Given the description of an element on the screen output the (x, y) to click on. 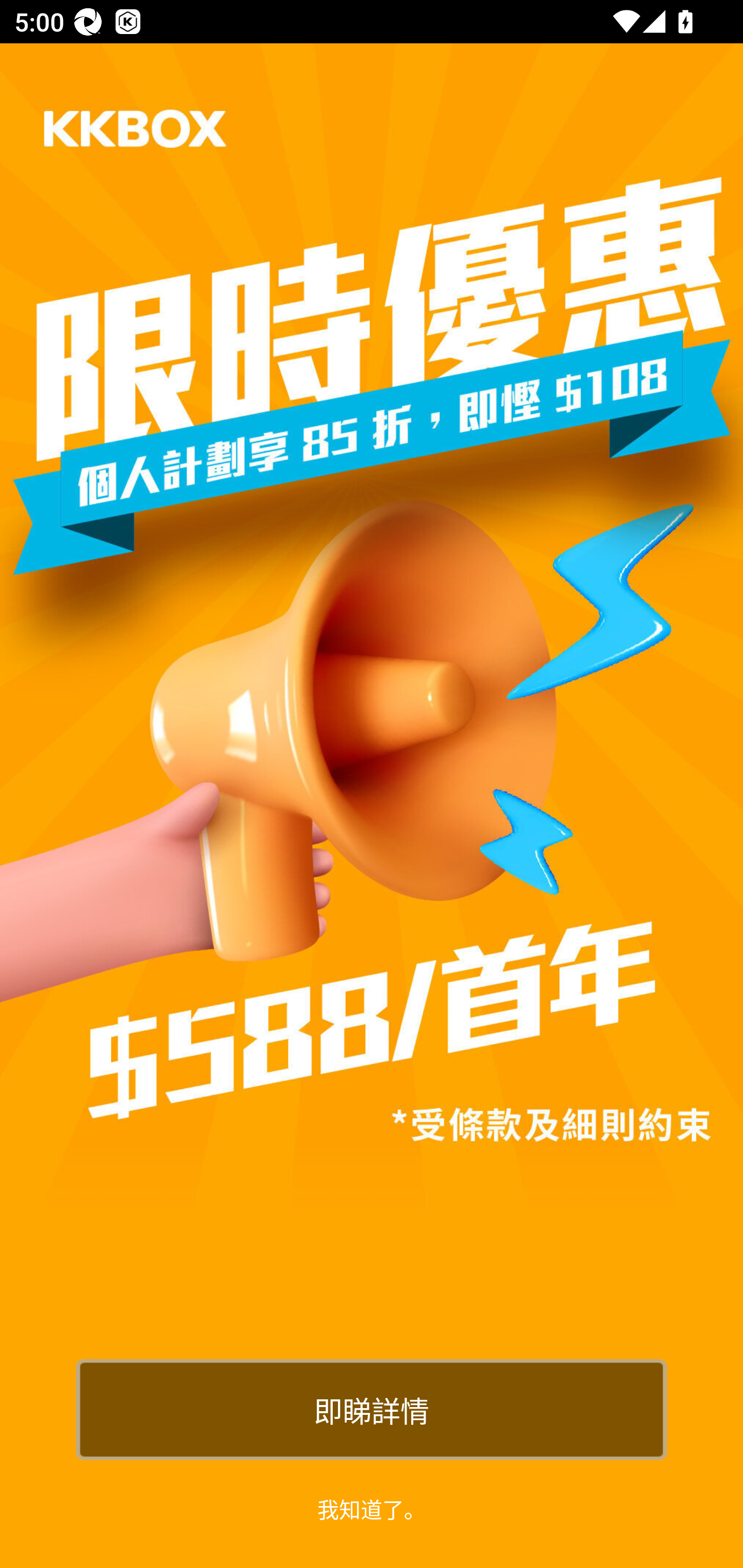
即睇詳情 (371, 1409)
我知道了。 (371, 1508)
